Given the description of an element on the screen output the (x, y) to click on. 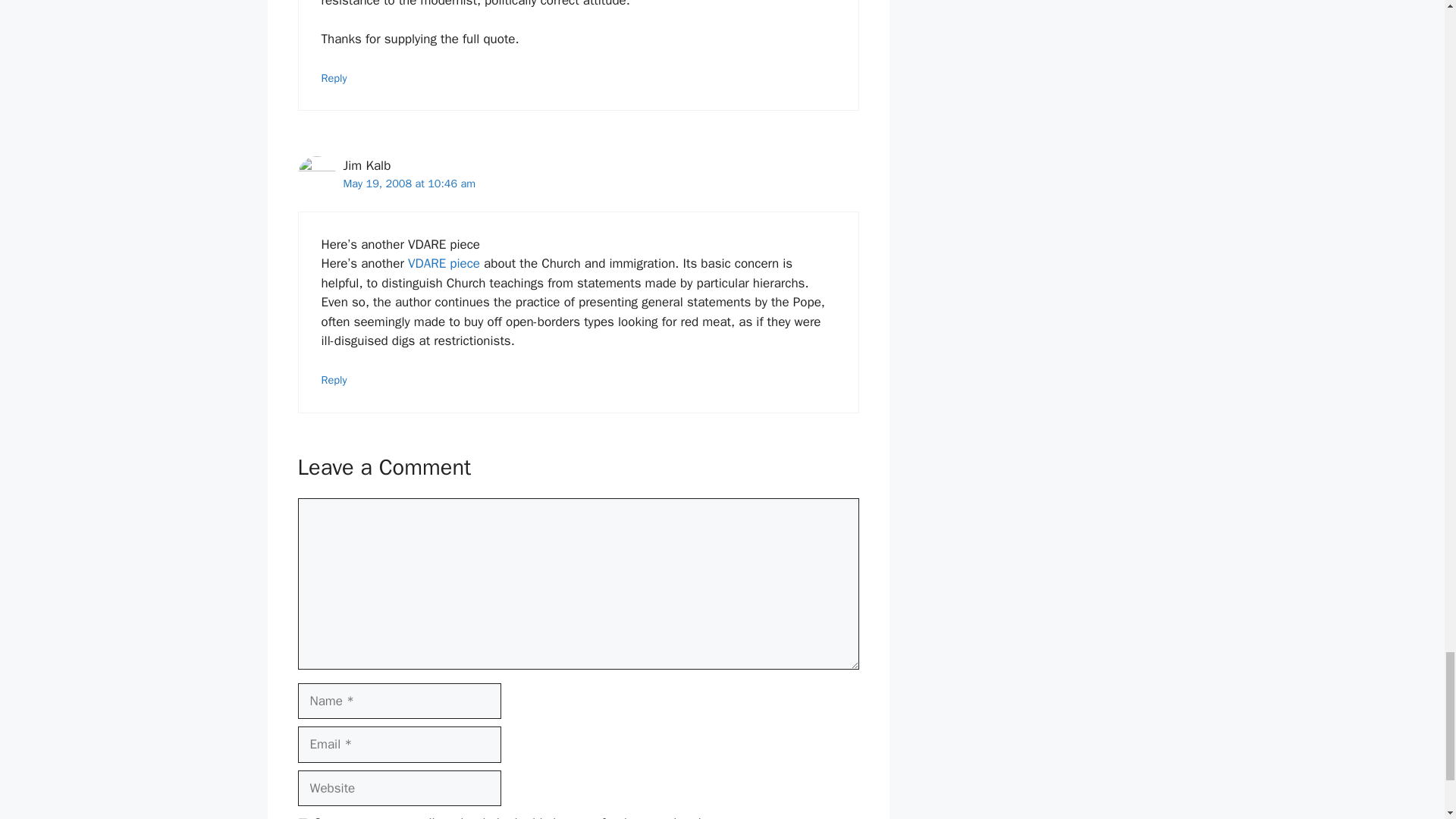
Reply (334, 379)
May 19, 2008 at 10:46 am (409, 183)
Reply (334, 78)
VDARE piece (443, 263)
